Given the description of an element on the screen output the (x, y) to click on. 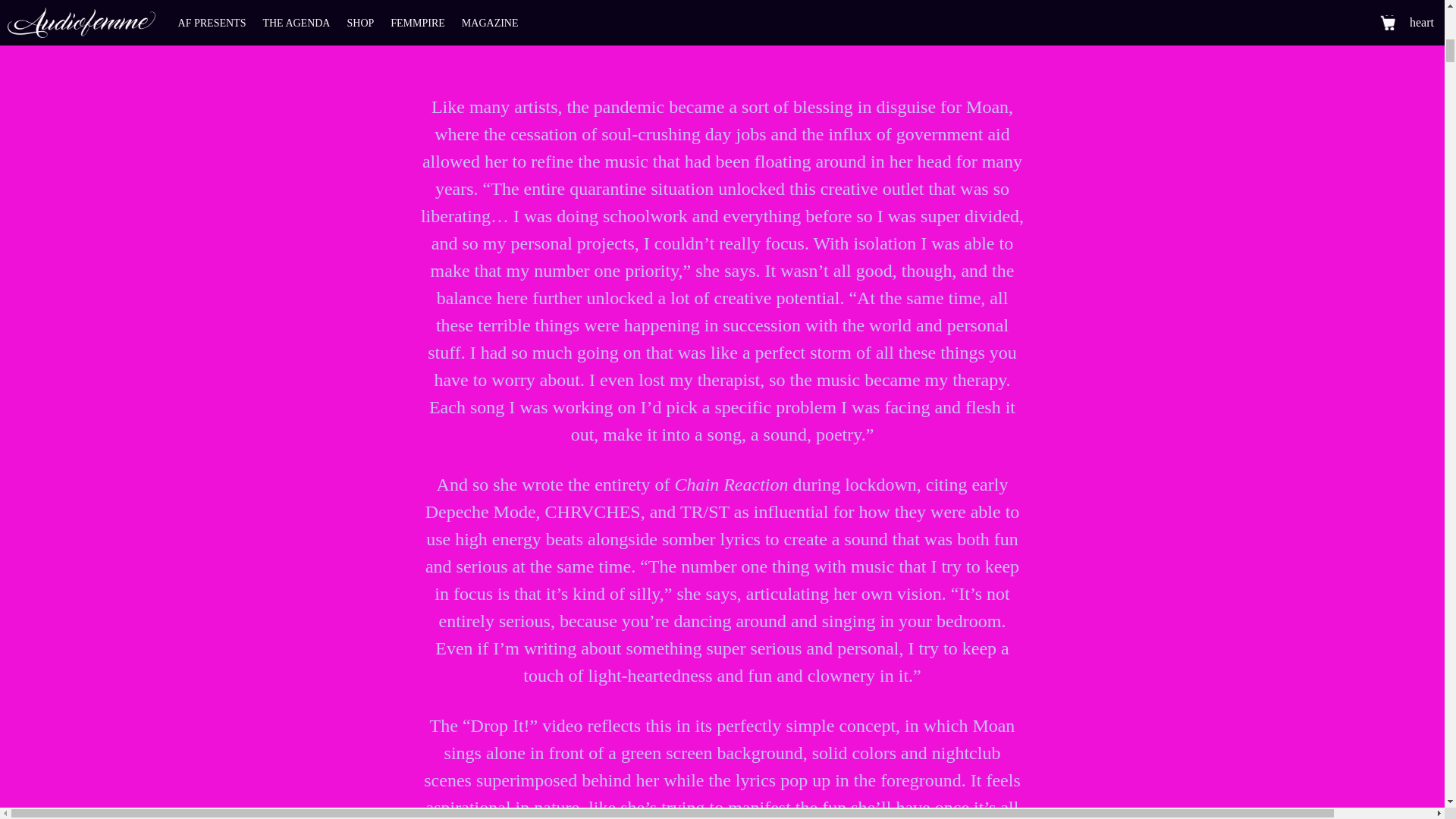
YouTube video player (722, 35)
